Given the description of an element on the screen output the (x, y) to click on. 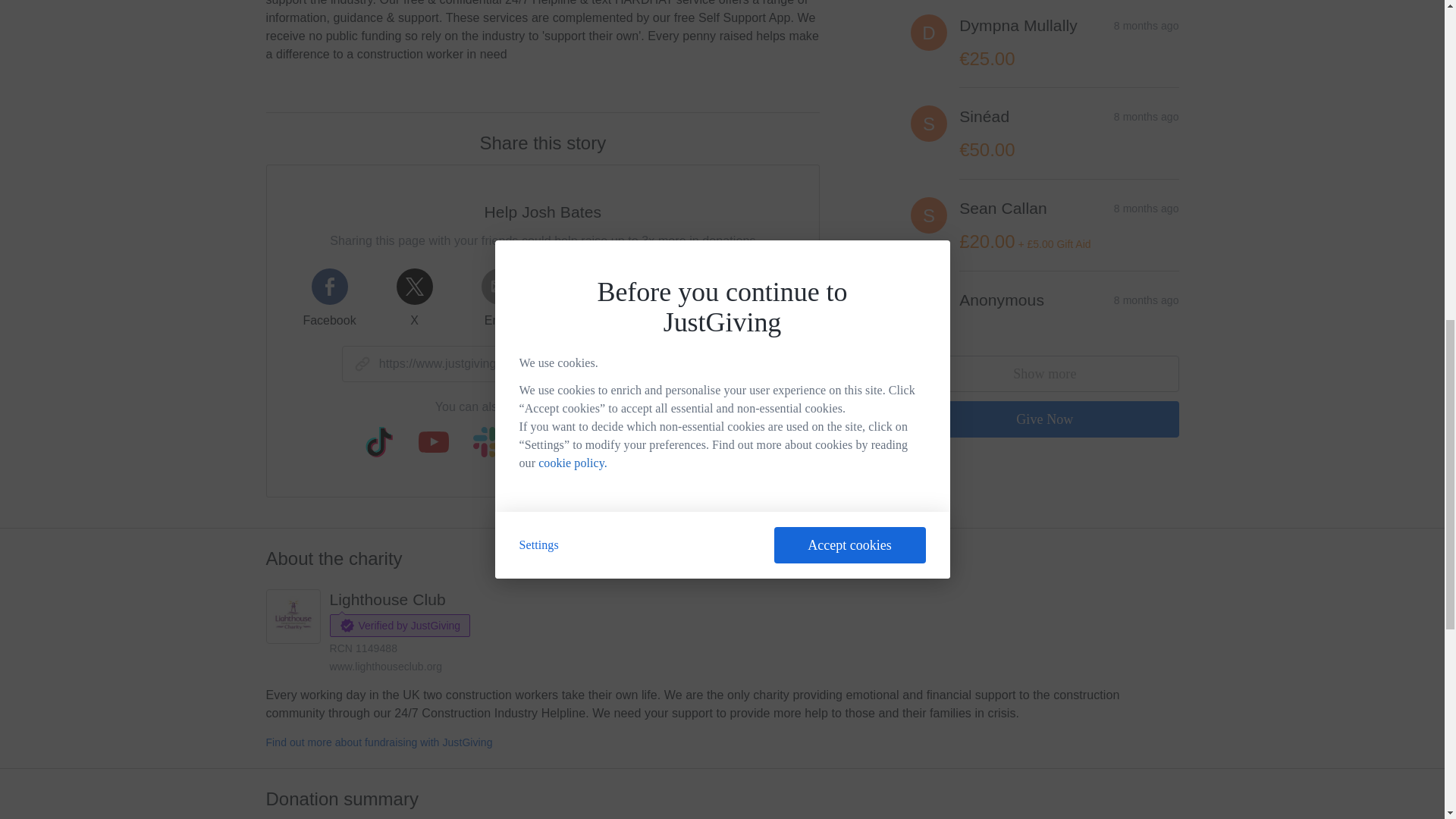
Email (499, 297)
Facebook (329, 297)
LinkedIn (754, 297)
X (414, 297)
WhatsApp (584, 297)
Messenger (669, 297)
